Given the description of an element on the screen output the (x, y) to click on. 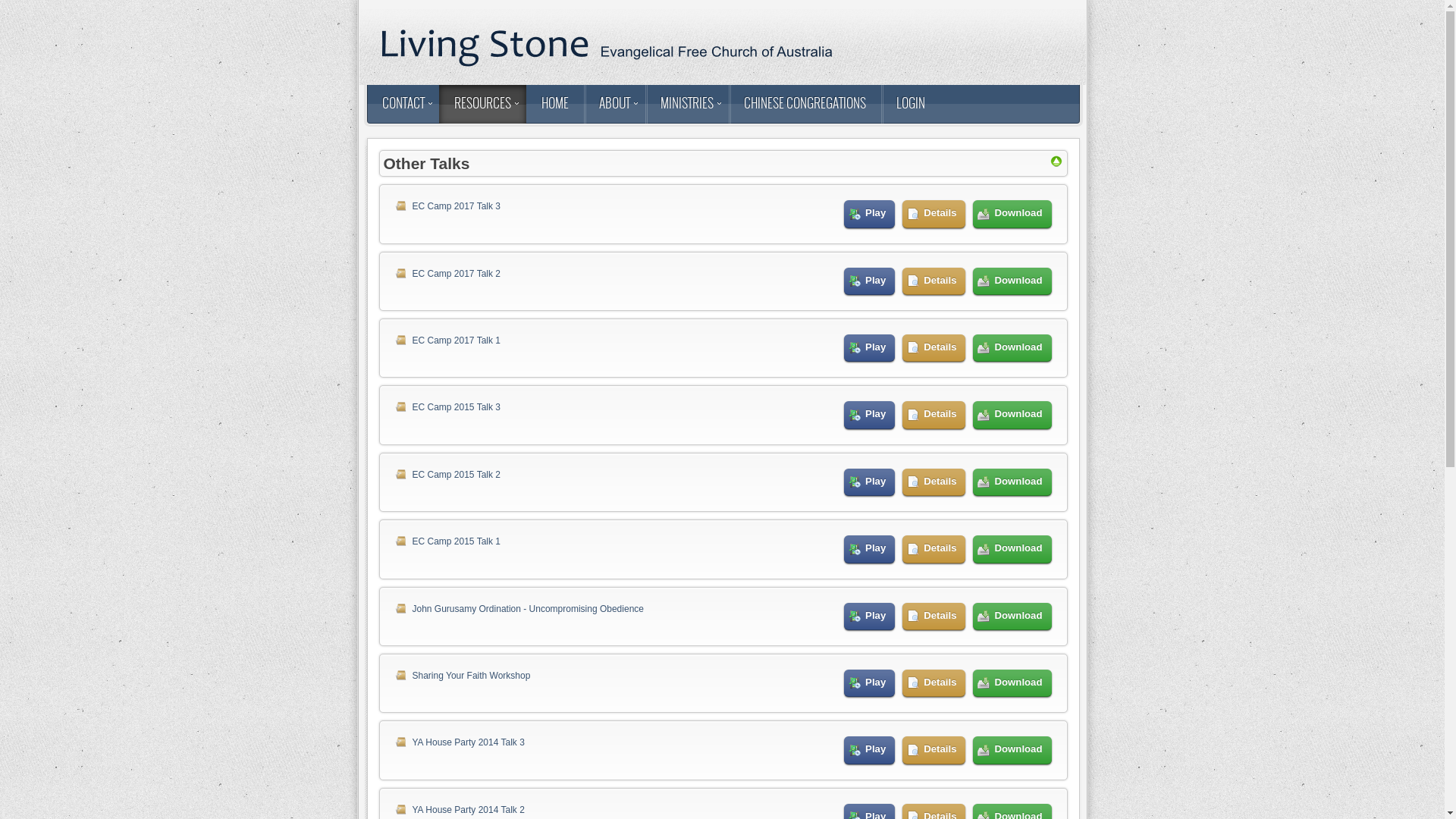
Download Element type: text (1011, 280)
Details Element type: text (933, 616)
ABOUT Element type: text (614, 103)
EC Camp 2017 Talk 3 Element type: text (456, 205)
Details Element type: text (933, 749)
Download Element type: text (1011, 347)
EC Camp 2017 Talk 1 Element type: text (456, 340)
Play Element type: text (869, 616)
Download Element type: text (1011, 414)
Play Element type: text (869, 548)
Details Element type: text (933, 213)
EC Camp 2015 Talk 3 Element type: text (456, 406)
Play Element type: text (869, 213)
Download Element type: text (1011, 213)
CHINESE CONGREGATIONS Element type: text (804, 103)
EC Camp 2017 Talk 2 Element type: text (456, 273)
EC Camp 2015 Talk 1 Element type: text (456, 541)
Details Element type: text (933, 682)
Details Element type: text (933, 280)
Sharing Your Faith Workshop Element type: text (471, 675)
LOGIN Element type: text (910, 103)
Play Element type: text (869, 749)
Play Element type: text (869, 682)
Categories Element type: hover (1055, 164)
YA House Party 2014 Talk 3 Element type: text (468, 742)
Play Element type: text (869, 481)
EC Camp 2015 Talk 2 Element type: text (456, 474)
Play Element type: text (869, 347)
Download Element type: text (1011, 481)
Play Element type: text (869, 280)
HOME Element type: text (554, 103)
Download Element type: text (1011, 749)
Details Element type: text (933, 347)
Details Element type: text (933, 414)
YA House Party 2014 Talk 2 Element type: text (468, 809)
Download Element type: text (1011, 616)
Play Element type: text (869, 414)
John Gurusamy Ordination - Uncompromising Obedience Element type: text (527, 608)
RESOURCES Element type: text (481, 103)
Details Element type: text (933, 548)
Details Element type: text (933, 481)
Download Element type: text (1011, 682)
Download Element type: text (1011, 548)
CONTACT Element type: text (403, 103)
MINISTRIES Element type: text (686, 103)
